Given the description of an element on the screen output the (x, y) to click on. 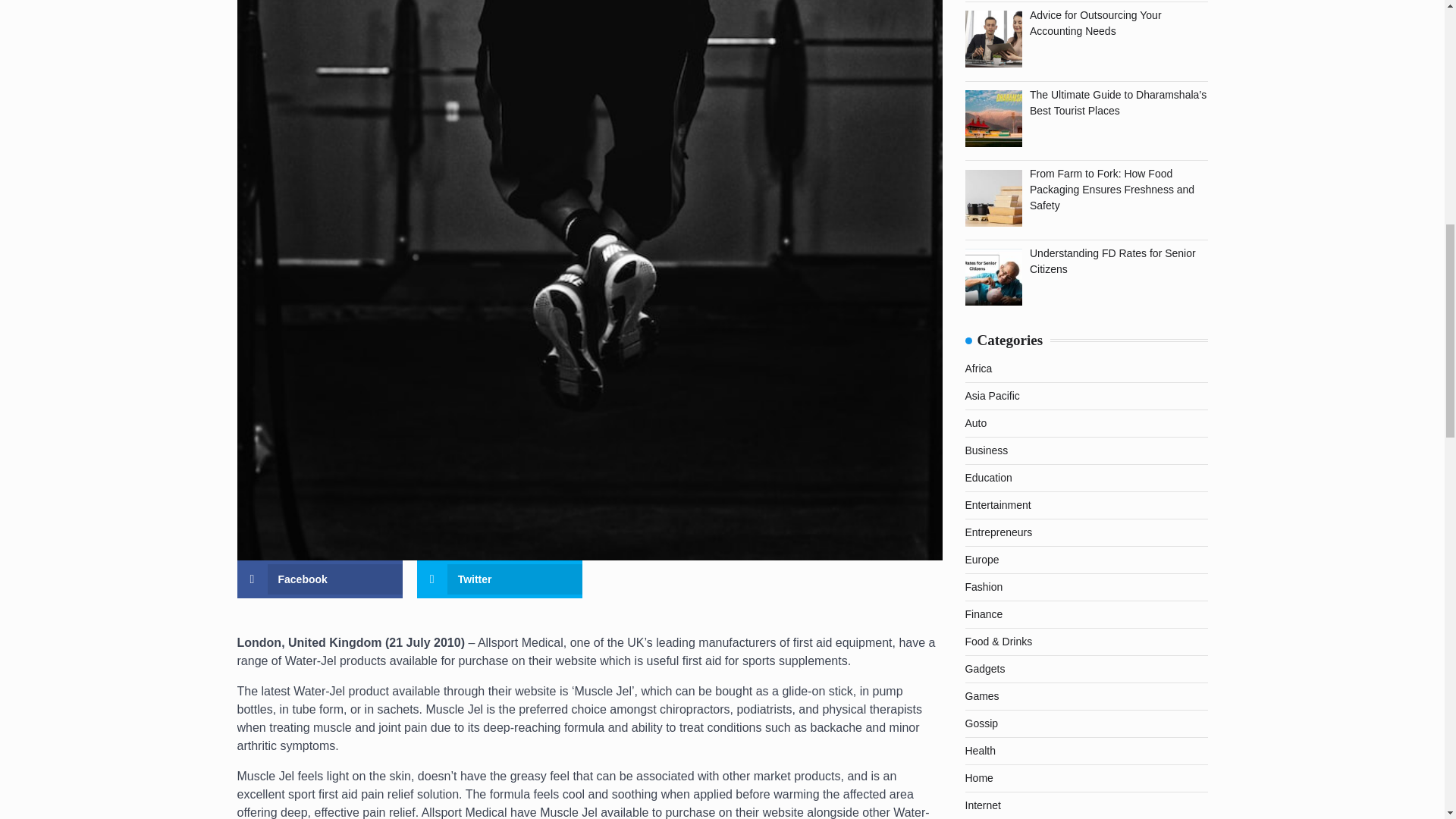
Twitter (499, 579)
Facebook (319, 579)
